Given the description of an element on the screen output the (x, y) to click on. 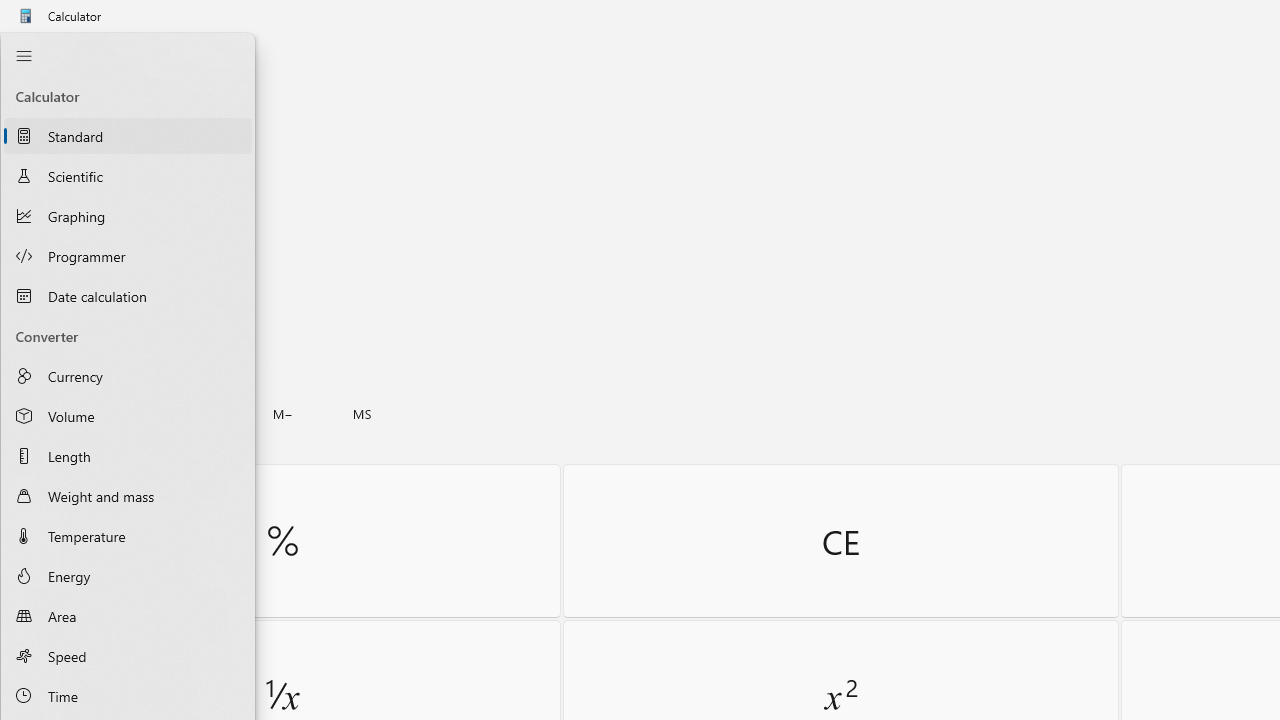
Memory subtract (283, 414)
Currency Converter (127, 375)
Date calculation Calculator (127, 295)
Scientific Calculator (127, 175)
Close Navigation (23, 56)
Memory add (202, 414)
Volume Converter (127, 416)
Clear all memory (42, 414)
